Given the description of an element on the screen output the (x, y) to click on. 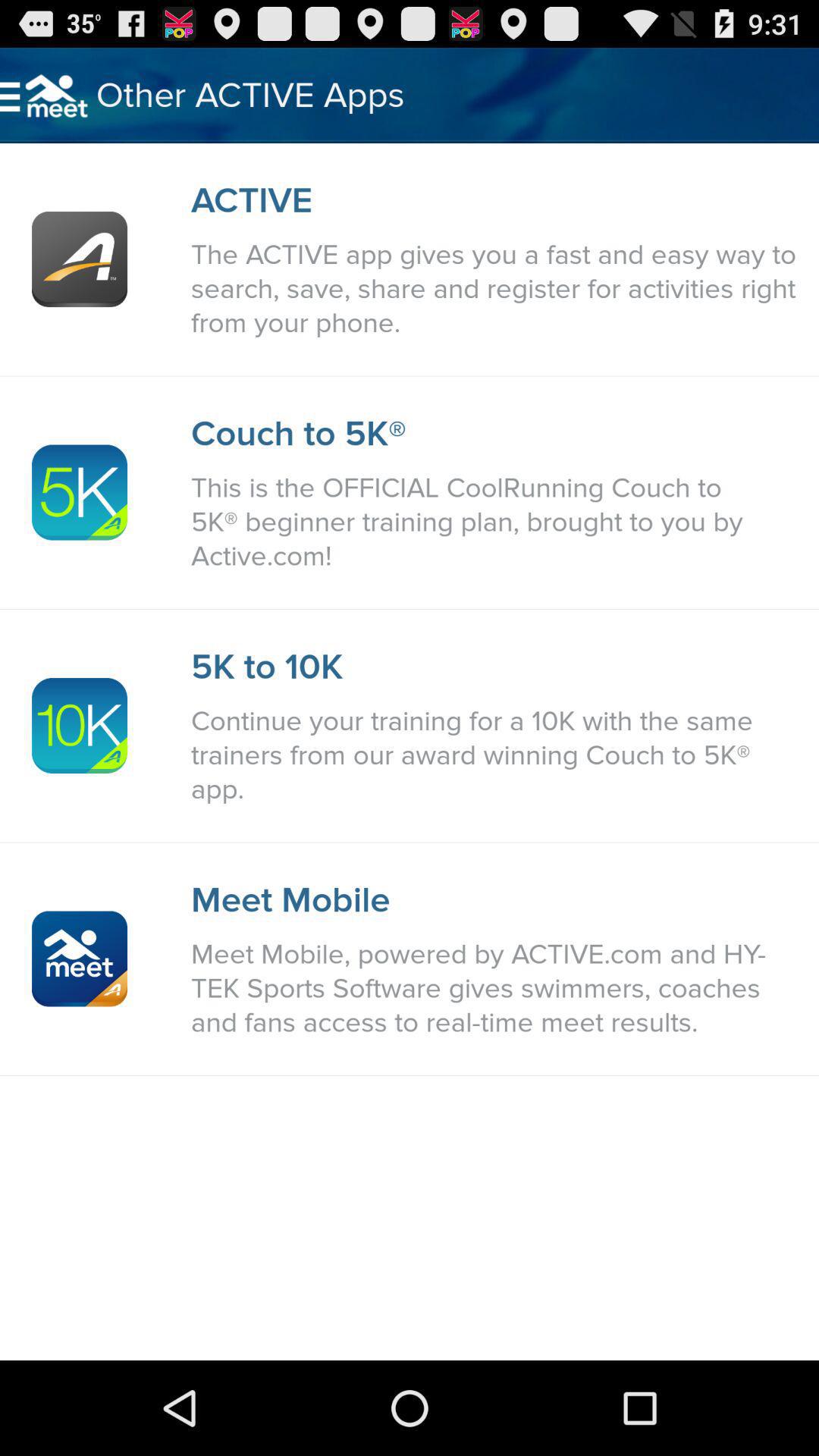
flip until continue your training icon (497, 755)
